Given the description of an element on the screen output the (x, y) to click on. 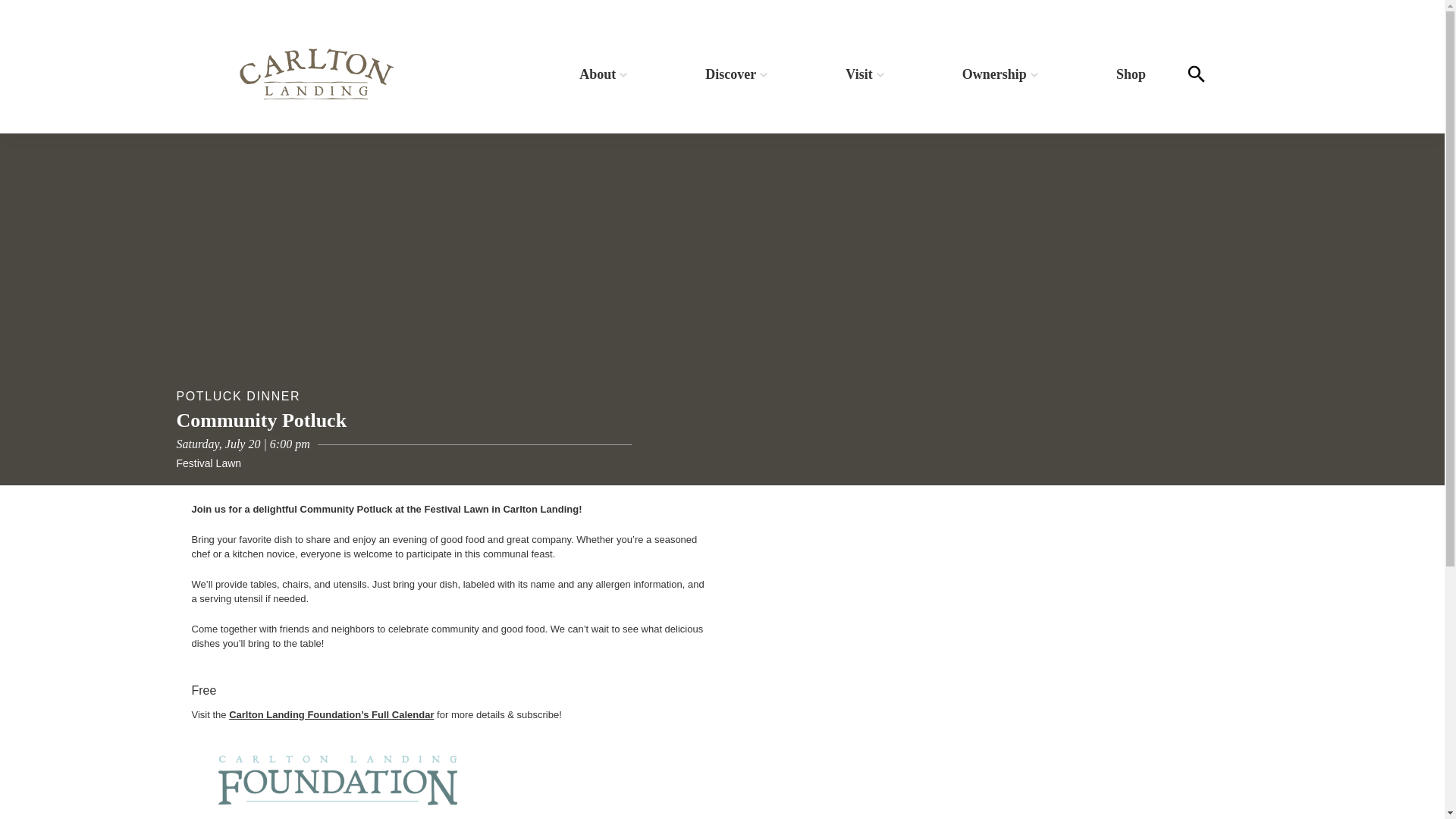
Shop (1130, 73)
About (603, 73)
Carlton Landing (315, 74)
Visit (864, 73)
Ownership (1000, 73)
Community Potluck (261, 420)
Discover (735, 73)
